Given the description of an element on the screen output the (x, y) to click on. 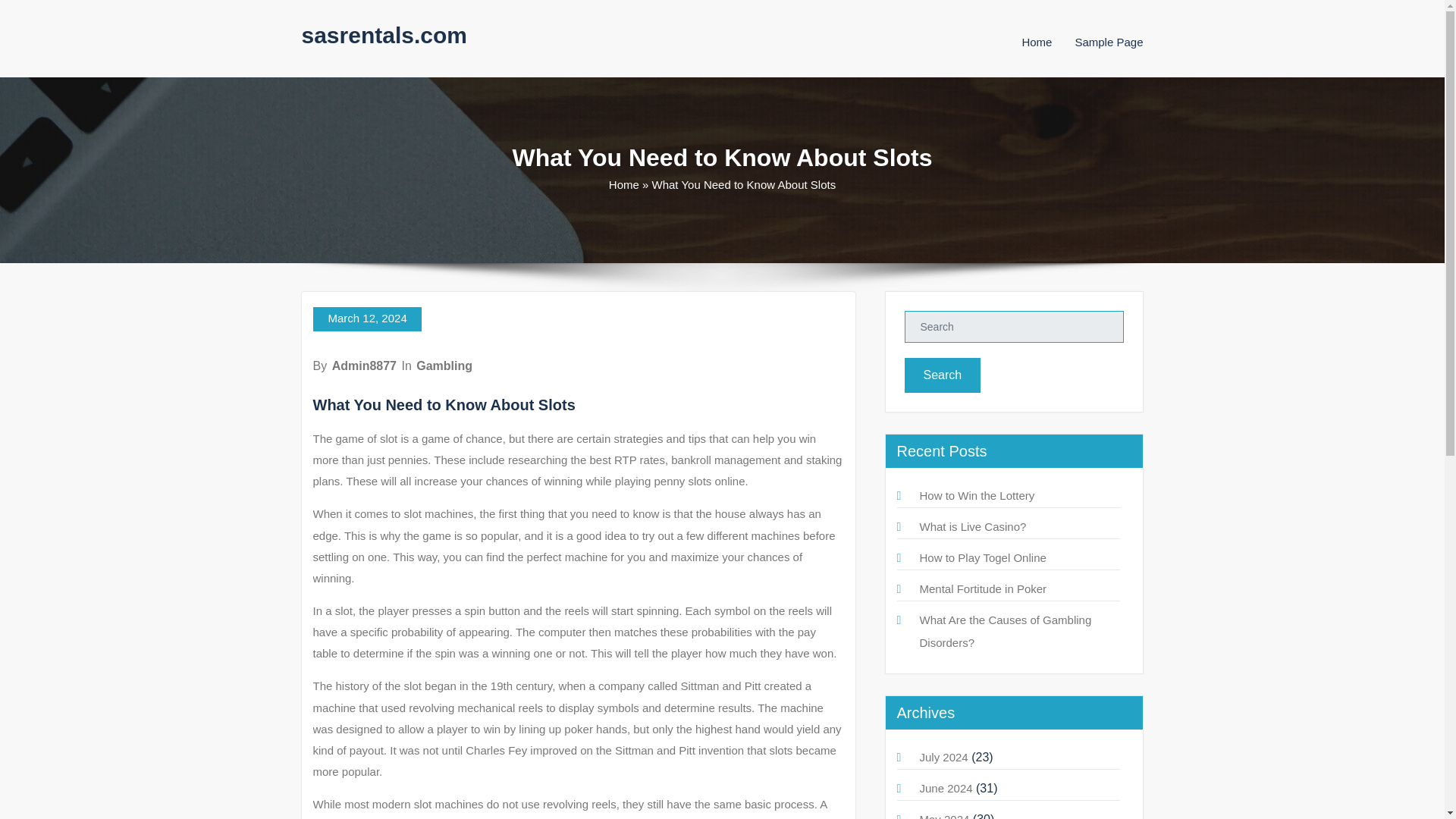
May 2024 (943, 816)
Mental Fortitude in Poker (982, 588)
Home (1036, 41)
Admin8877 (363, 365)
Search (941, 375)
How to Win the Lottery (975, 495)
Gambling (444, 365)
What Are the Causes of Gambling Disorders? (1004, 631)
March 12, 2024 (366, 319)
Home (1036, 41)
Home (623, 184)
sasrentals.com (384, 34)
What is Live Casino? (972, 526)
Sample Page (1108, 41)
June 2024 (945, 788)
